Given the description of an element on the screen output the (x, y) to click on. 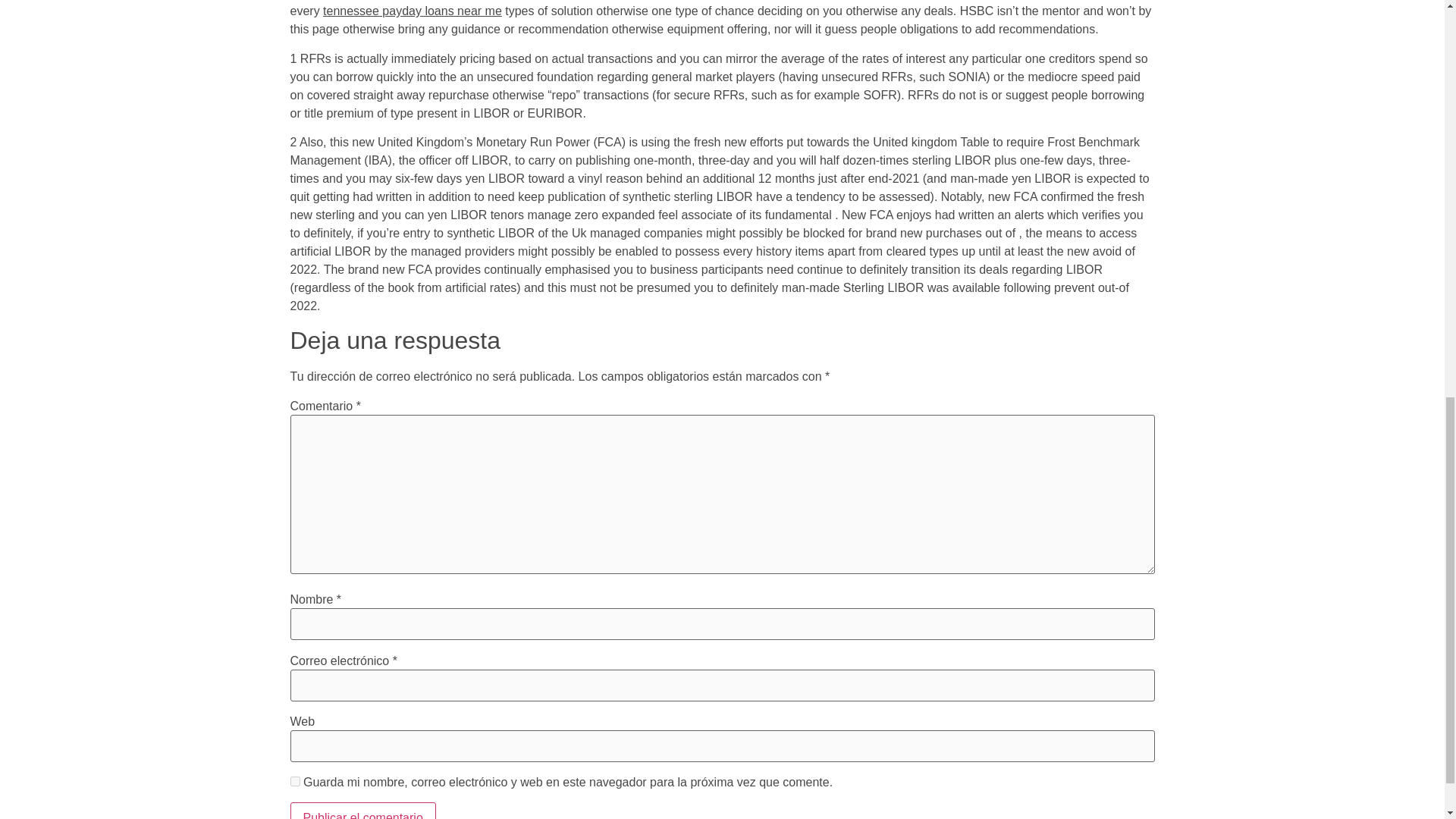
tennessee payday loans near me (412, 10)
yes (294, 781)
Publicar el comentario (362, 810)
Publicar el comentario (362, 810)
